Given the description of an element on the screen output the (x, y) to click on. 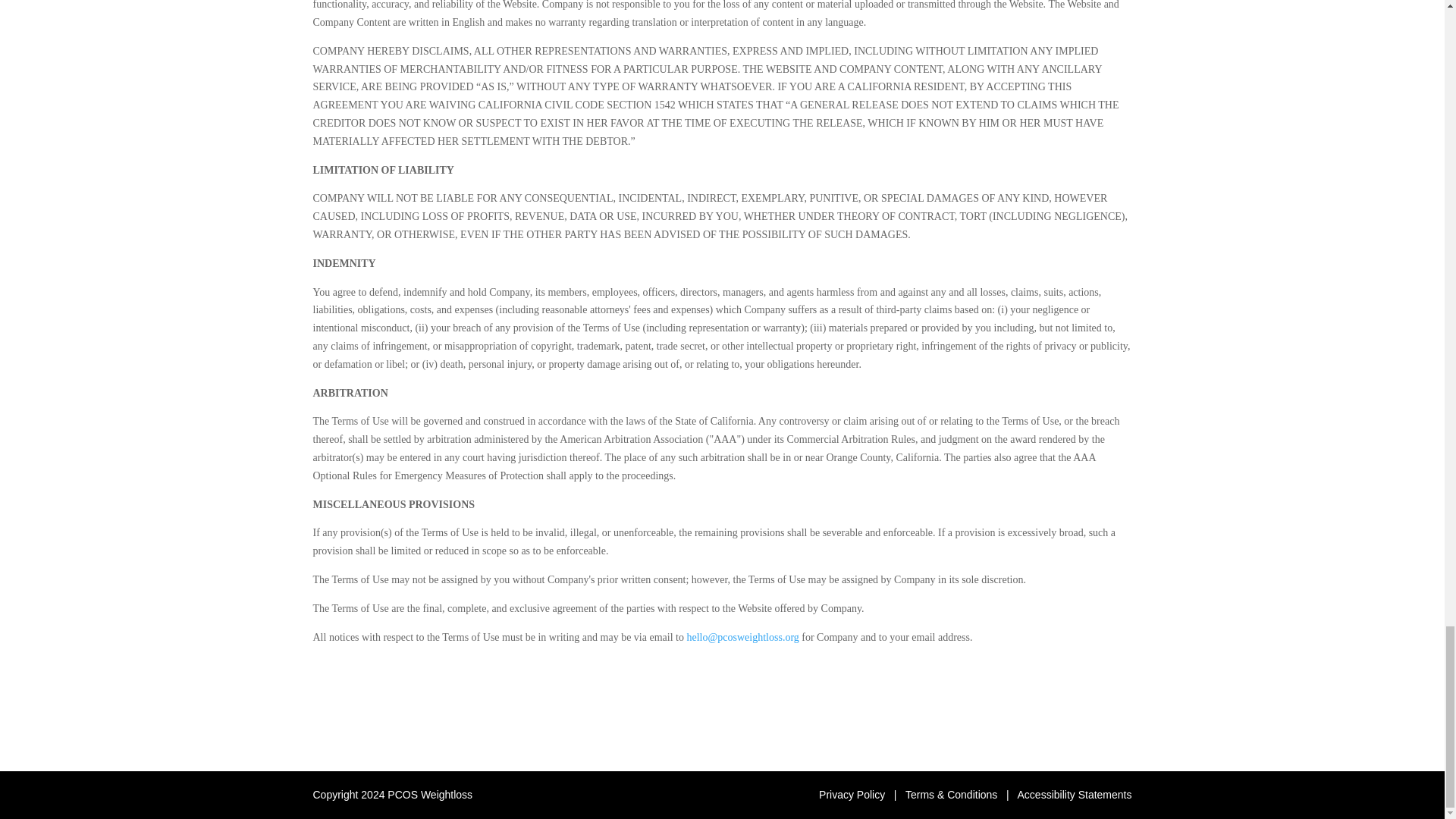
Accessibility Statements (1074, 794)
Privacy Policy (851, 794)
